Given the description of an element on the screen output the (x, y) to click on. 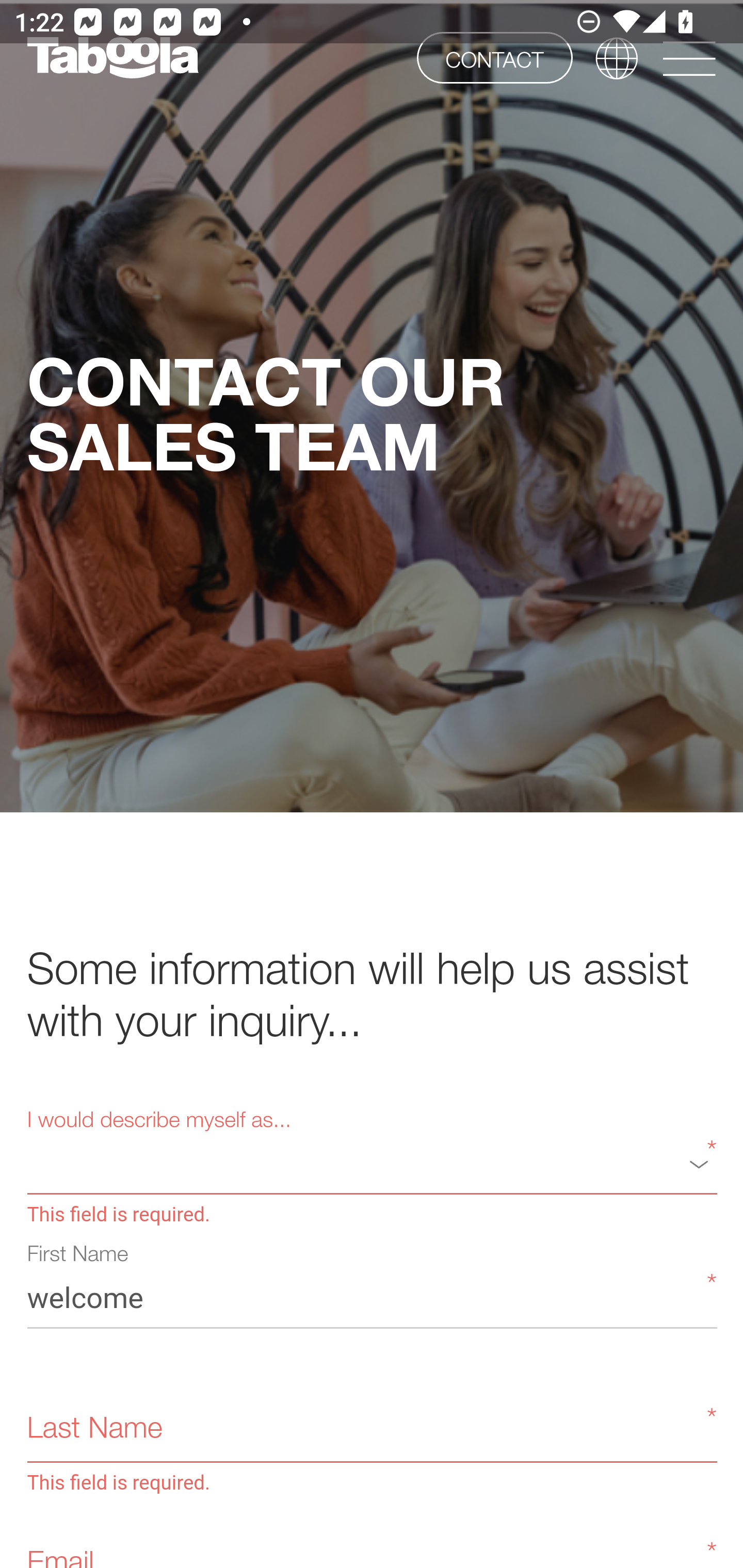
CONTACT (494, 56)
www.taboola (112, 57)
welcome (371, 1297)
